Given the description of an element on the screen output the (x, y) to click on. 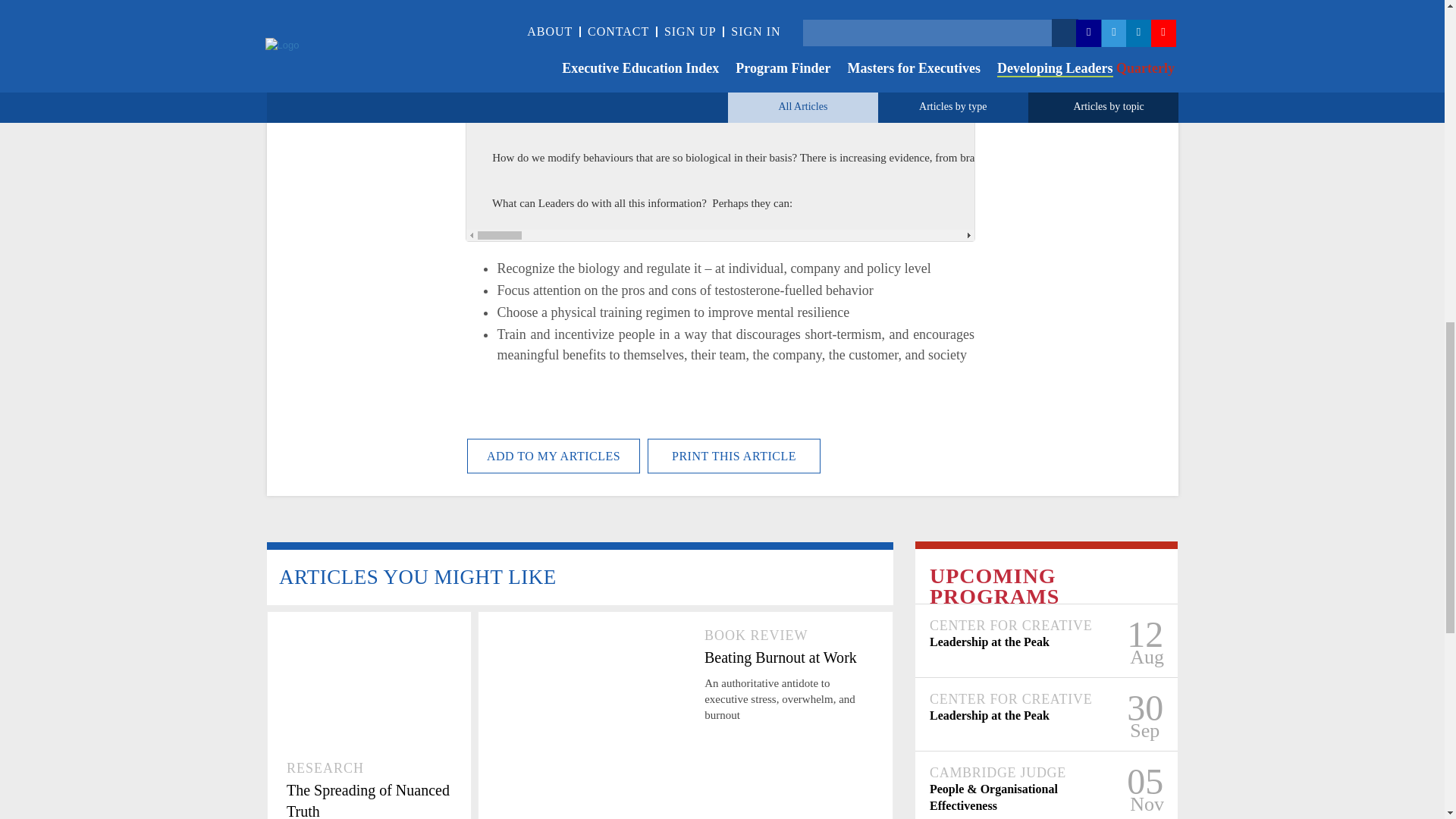
Beating Burnout at Work (788, 657)
The Spreading of Nuanced Truth (368, 799)
